Given the description of an element on the screen output the (x, y) to click on. 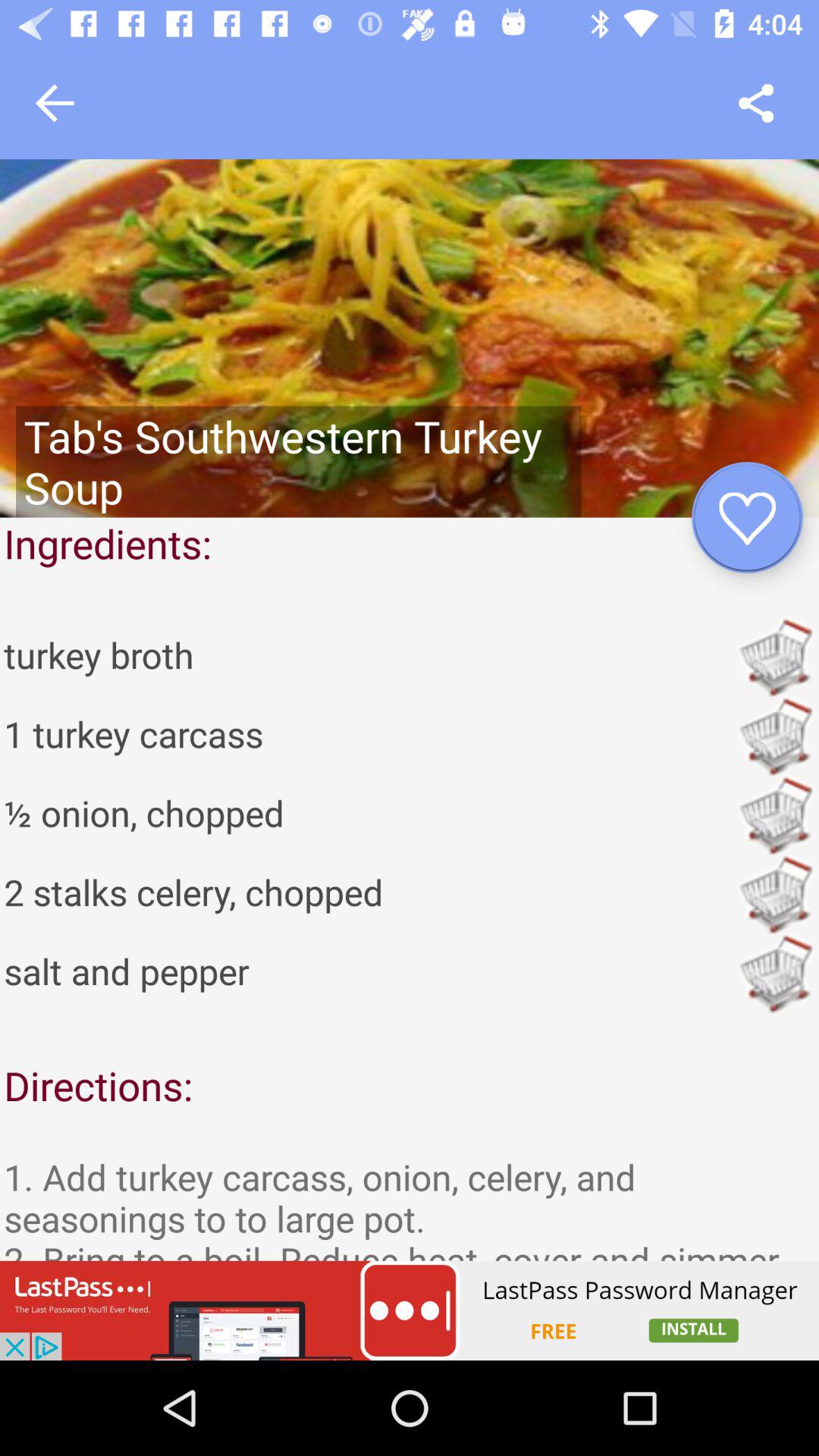
link to advertisement (409, 1310)
